Given the description of an element on the screen output the (x, y) to click on. 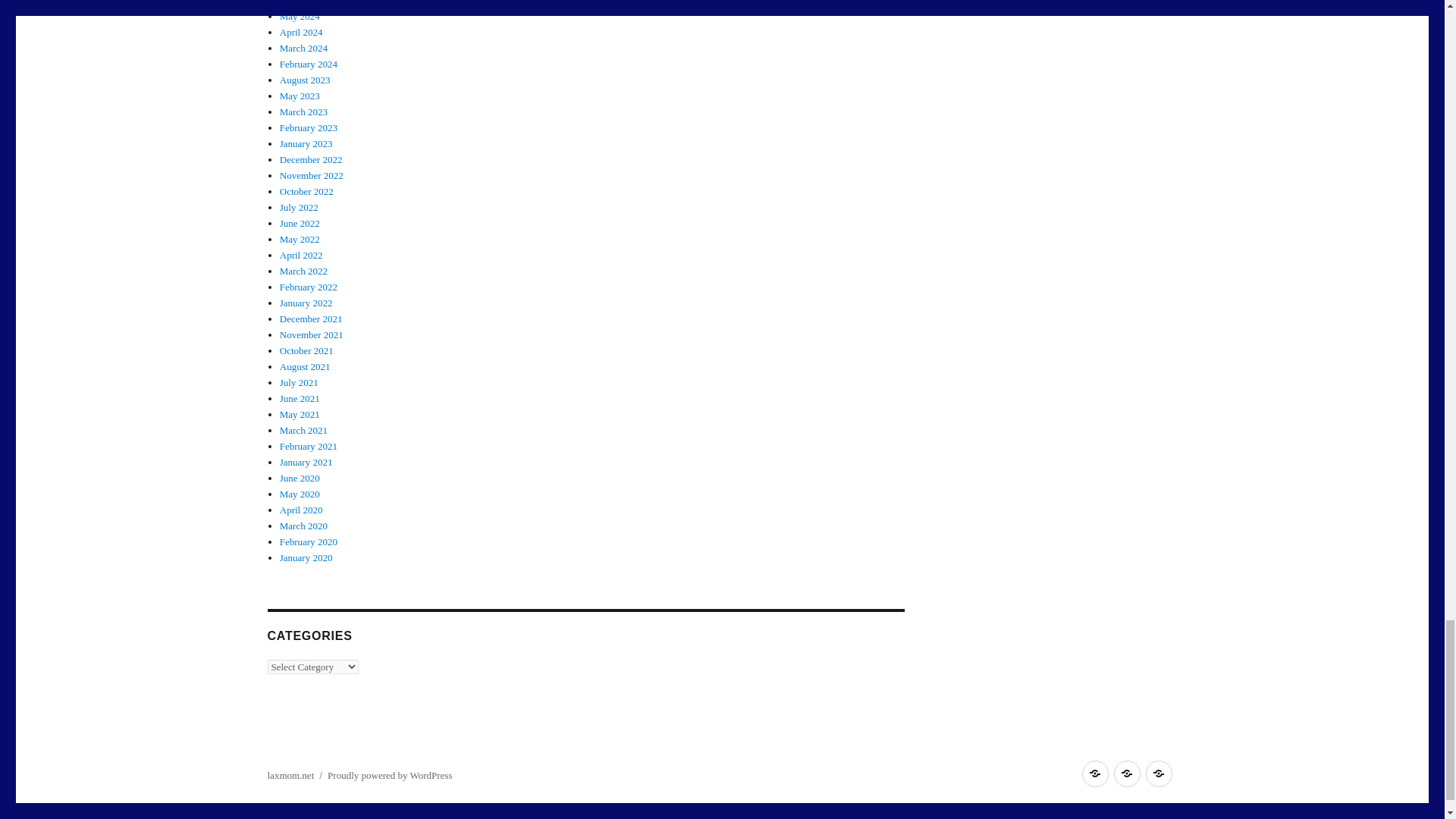
January 2023 (306, 143)
June 2024 (299, 2)
May 2023 (299, 95)
May 2024 (299, 16)
March 2023 (303, 111)
March 2024 (303, 48)
December 2022 (310, 159)
November 2022 (311, 174)
April 2024 (301, 31)
July 2022 (298, 206)
August 2023 (304, 79)
February 2024 (308, 63)
October 2022 (306, 191)
February 2023 (308, 127)
